Given the description of an element on the screen output the (x, y) to click on. 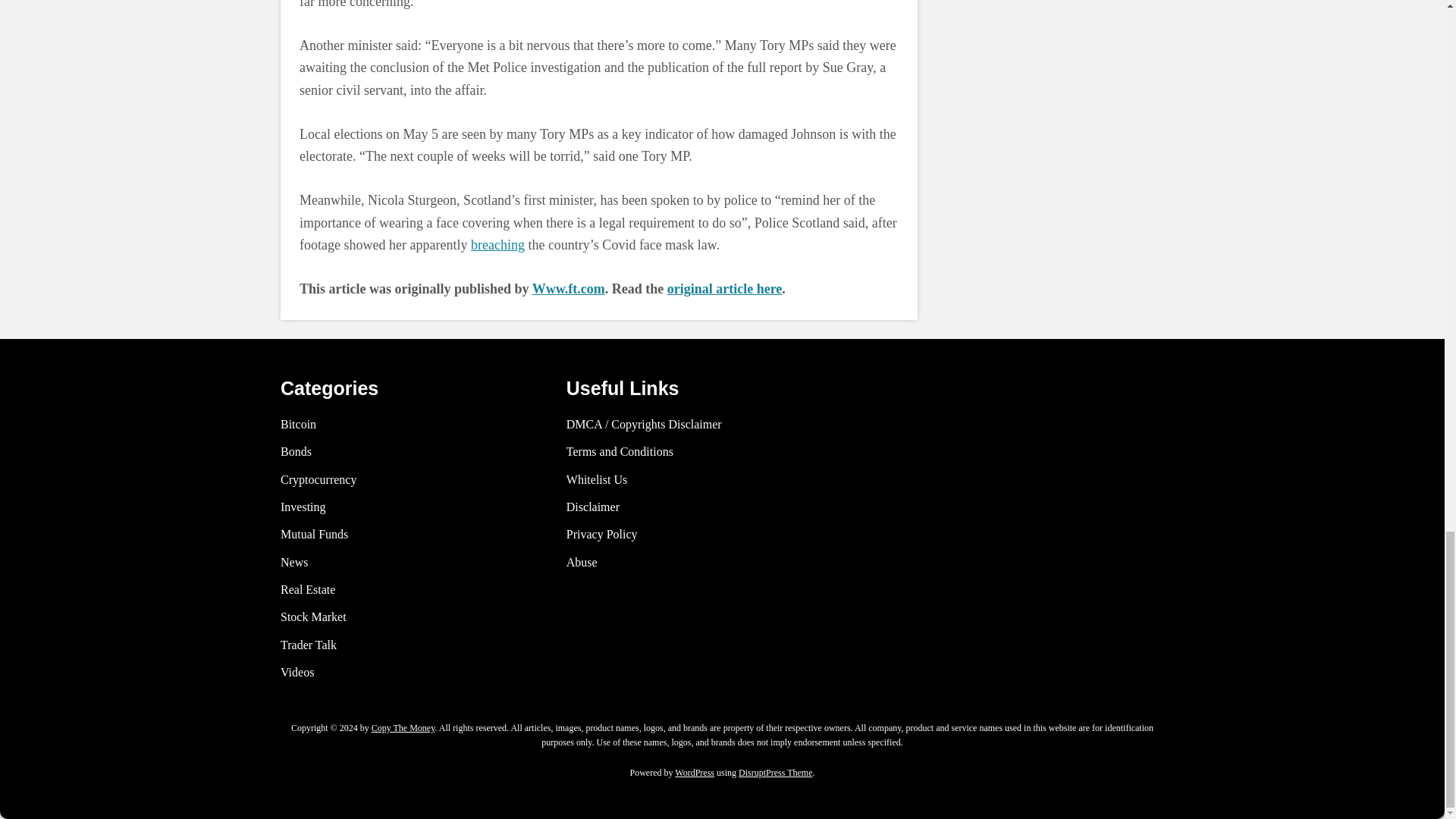
breaching (497, 244)
